Given the description of an element on the screen output the (x, y) to click on. 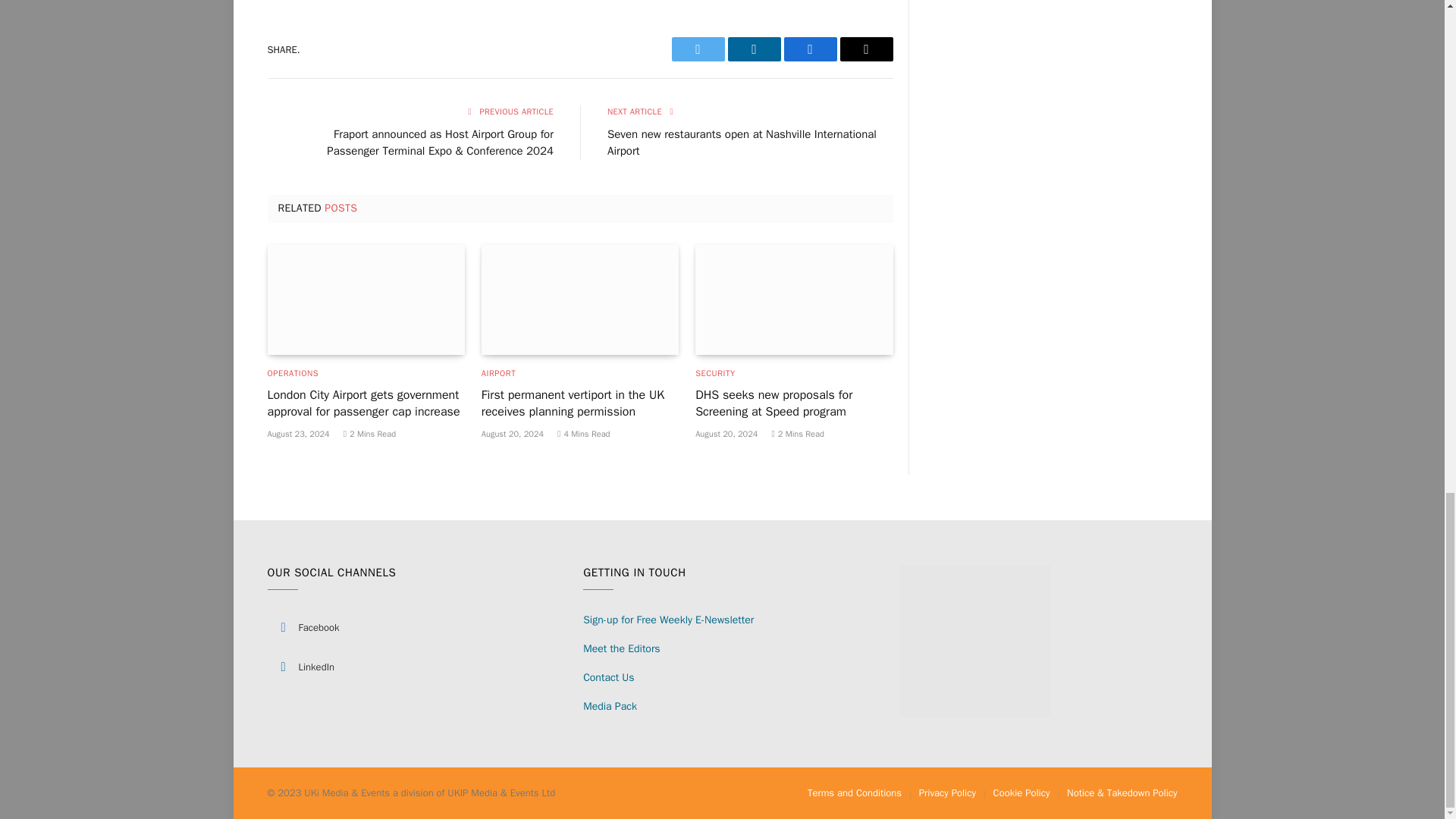
Share via Email (866, 48)
Share on Facebook (810, 48)
Share on LinkedIn (754, 48)
